Given the description of an element on the screen output the (x, y) to click on. 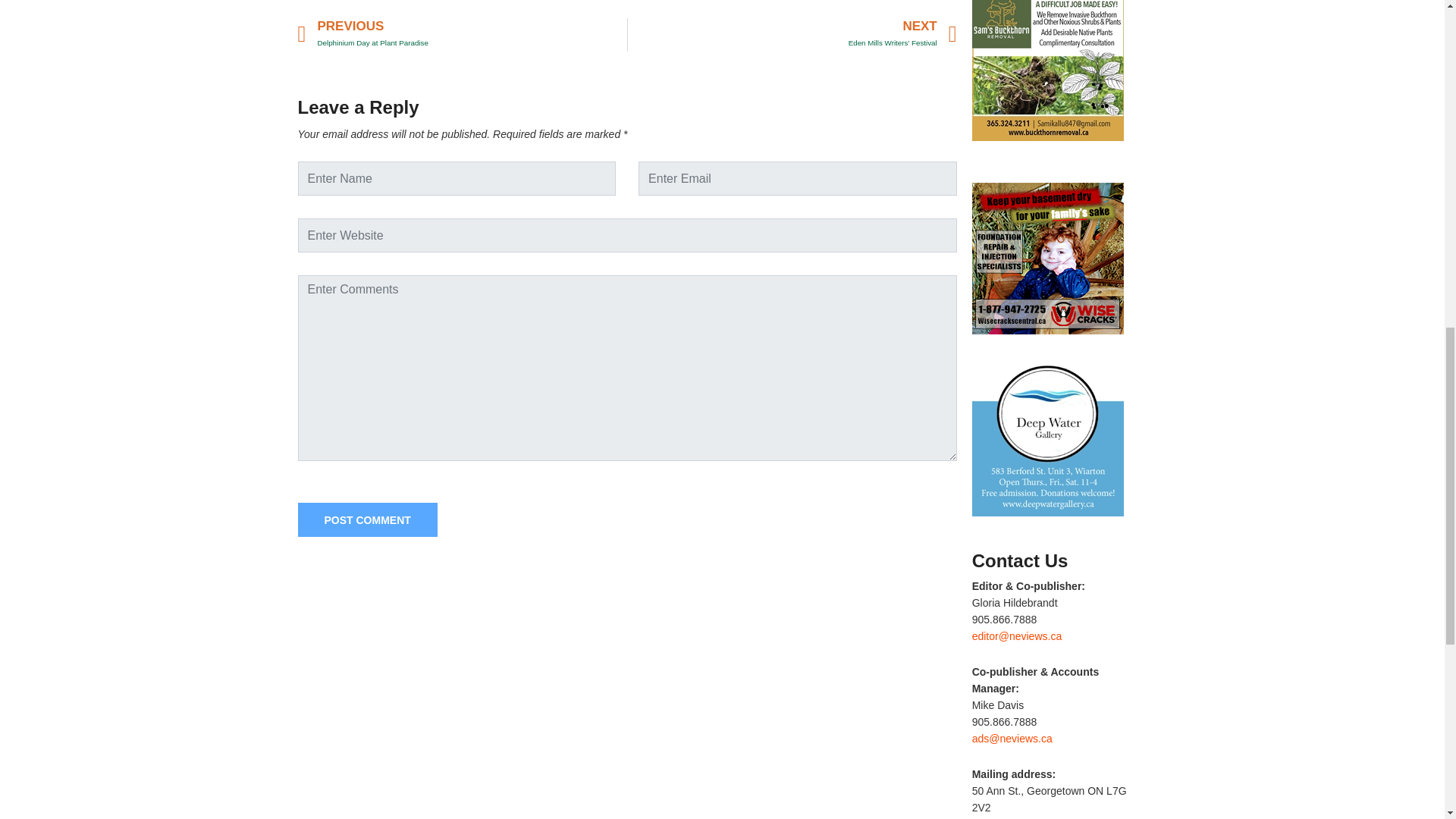
Post Comment (366, 519)
Post Comment (366, 519)
